Given the description of an element on the screen output the (x, y) to click on. 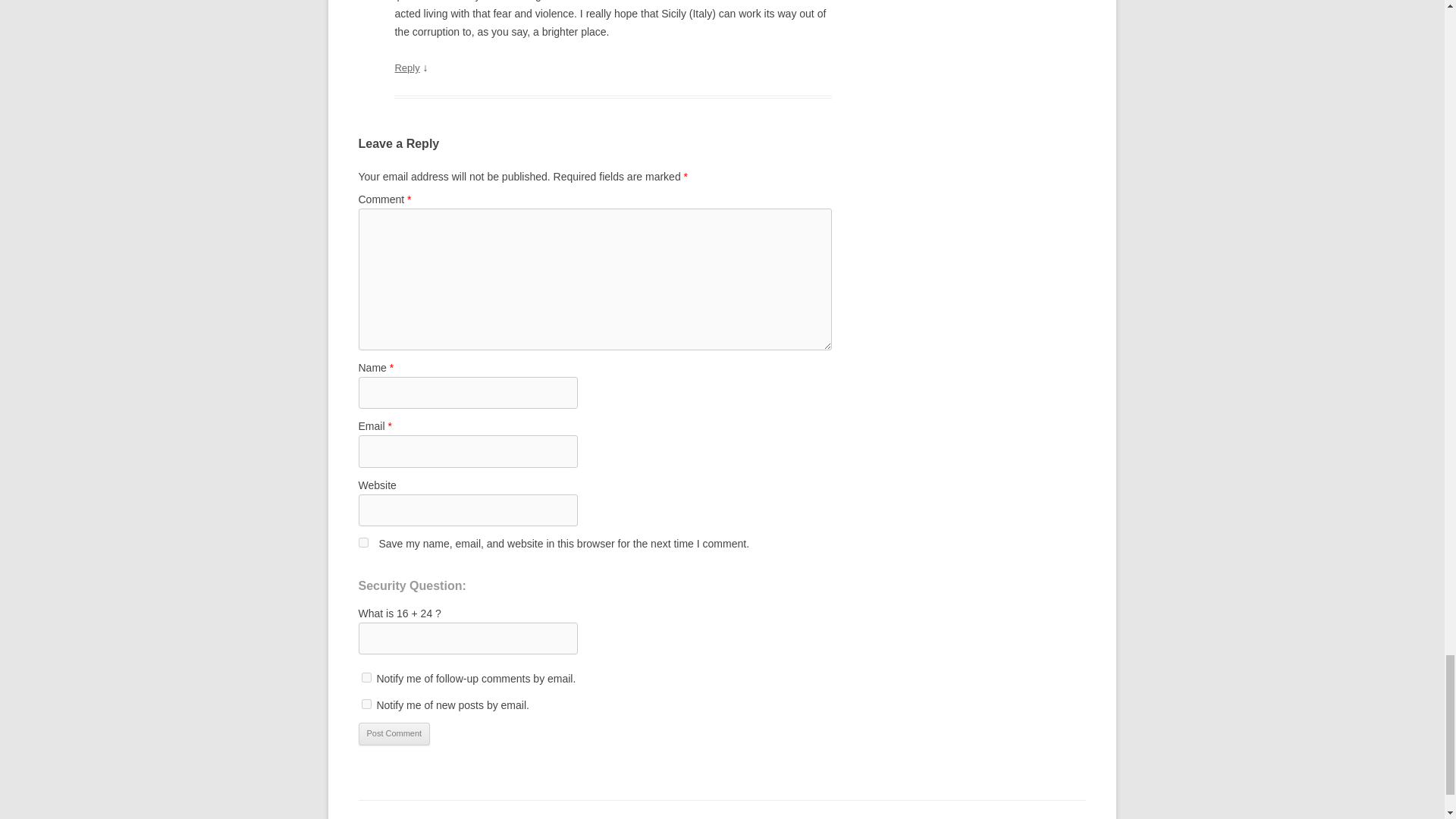
Post Comment (393, 733)
Post Comment (393, 733)
subscribe (366, 704)
Reply (406, 67)
yes (363, 542)
subscribe (366, 677)
